Given the description of an element on the screen output the (x, y) to click on. 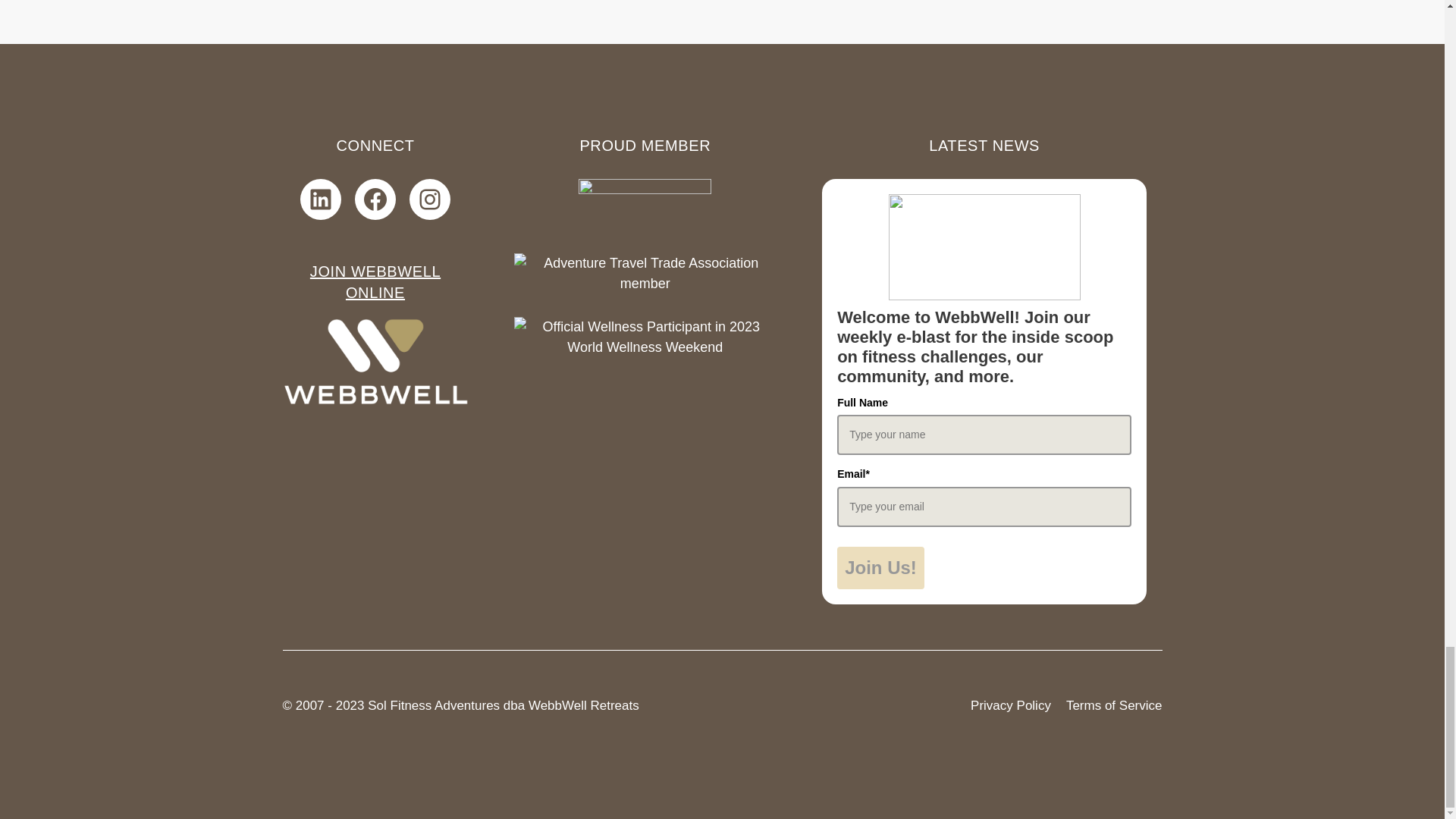
wellness-weekend-white (645, 336)
ace-certified-white (644, 204)
atta-membership-logo-border-white (645, 273)
WebbWellWhiteLogo (374, 361)
